Given the description of an element on the screen output the (x, y) to click on. 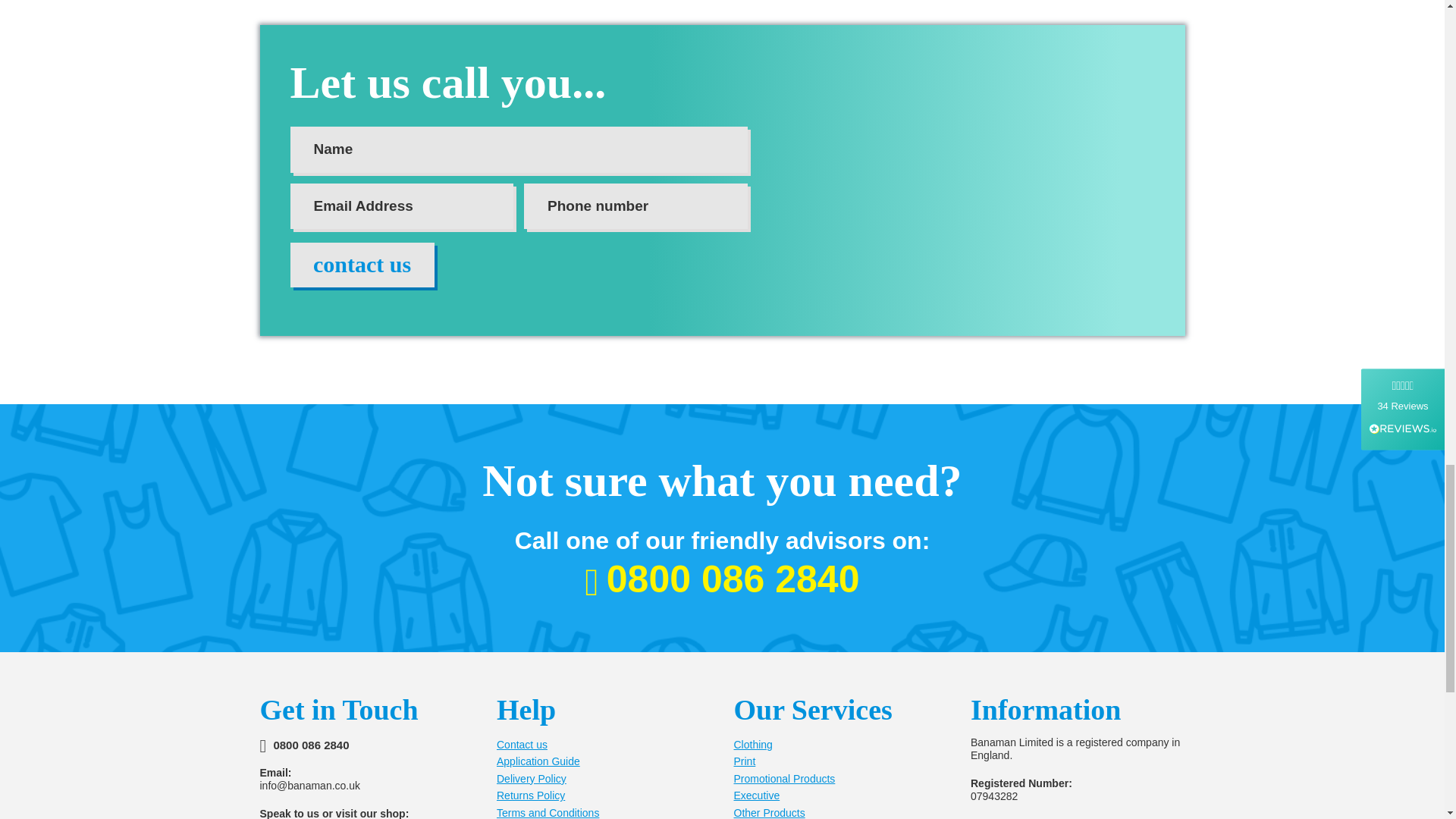
contact us (361, 264)
